Given the description of an element on the screen output the (x, y) to click on. 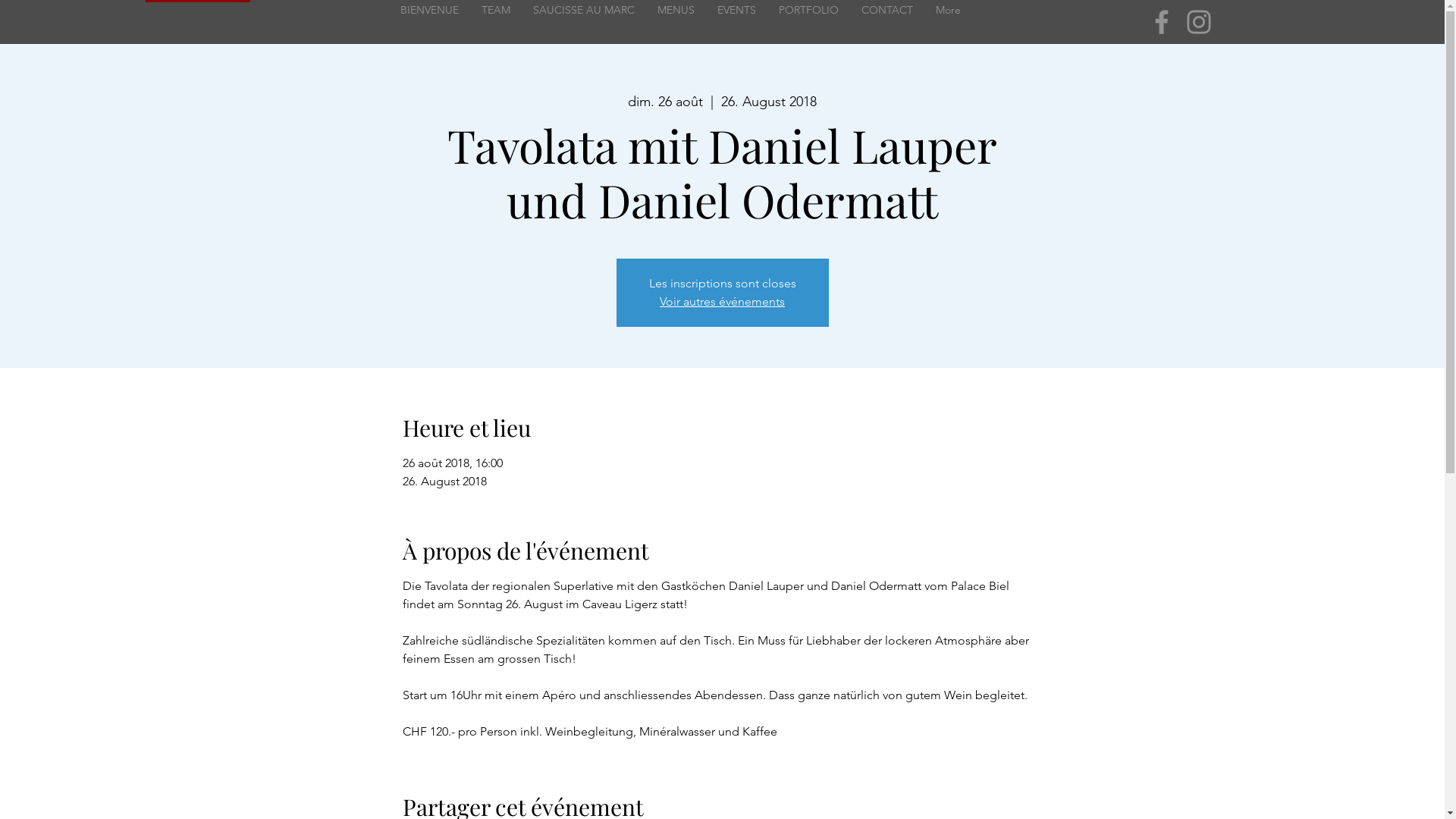
MENUS Element type: text (676, 21)
CONTACT Element type: text (886, 21)
TEAM Element type: text (495, 21)
EVENTS Element type: text (735, 21)
PORTFOLIO Element type: text (808, 21)
SAUCISSE AU MARC Element type: text (583, 21)
BIENVENUE Element type: text (428, 21)
